Given the description of an element on the screen output the (x, y) to click on. 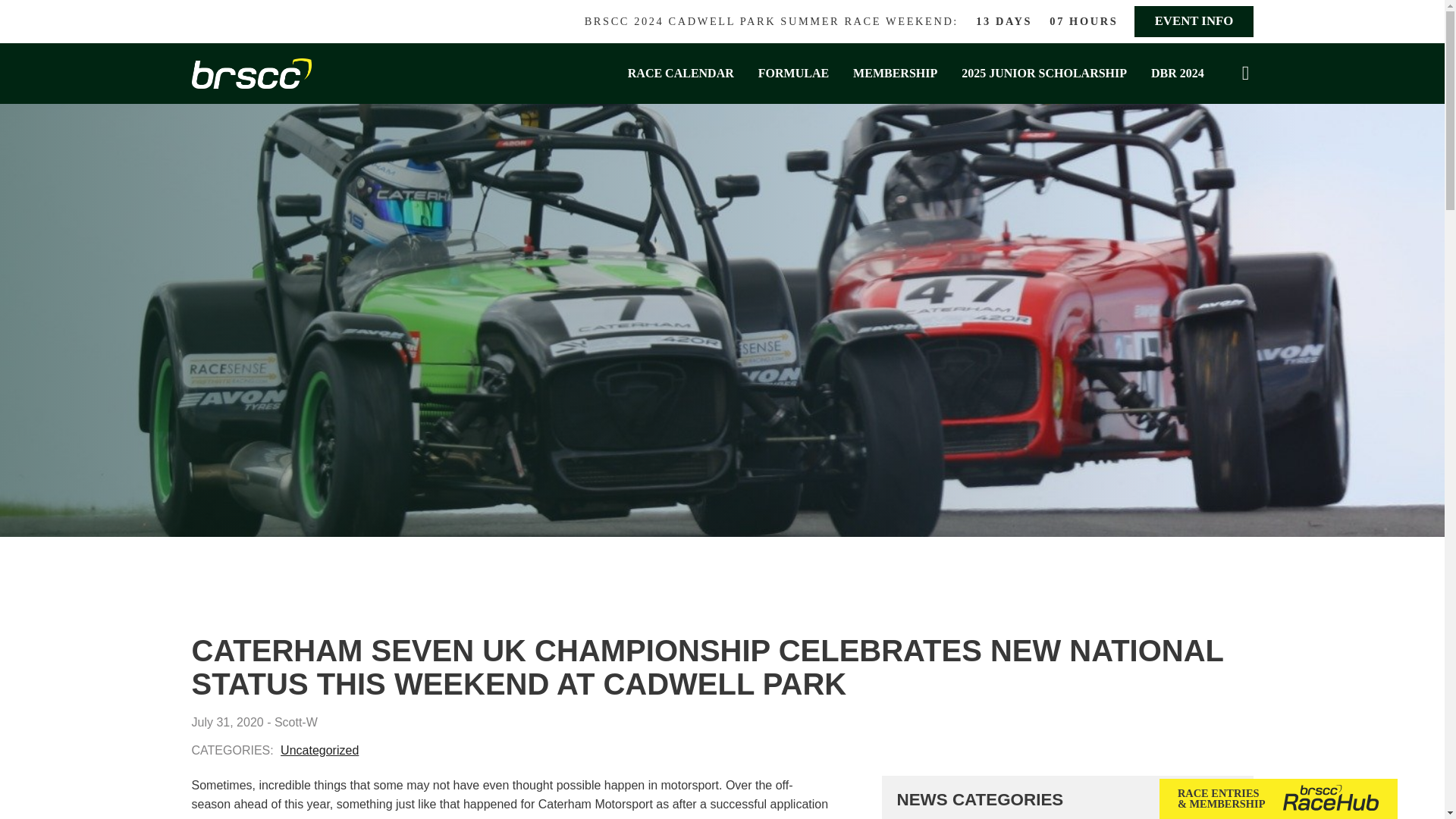
DBR 2024 (1176, 73)
EVENT INFO (1193, 20)
FORMULAE (793, 73)
MEMBERSHIP (895, 73)
Uncategorized (319, 749)
2025 JUNIOR SCHOLARSHIP (1043, 73)
RACE CALENDAR (680, 73)
